Given the description of an element on the screen output the (x, y) to click on. 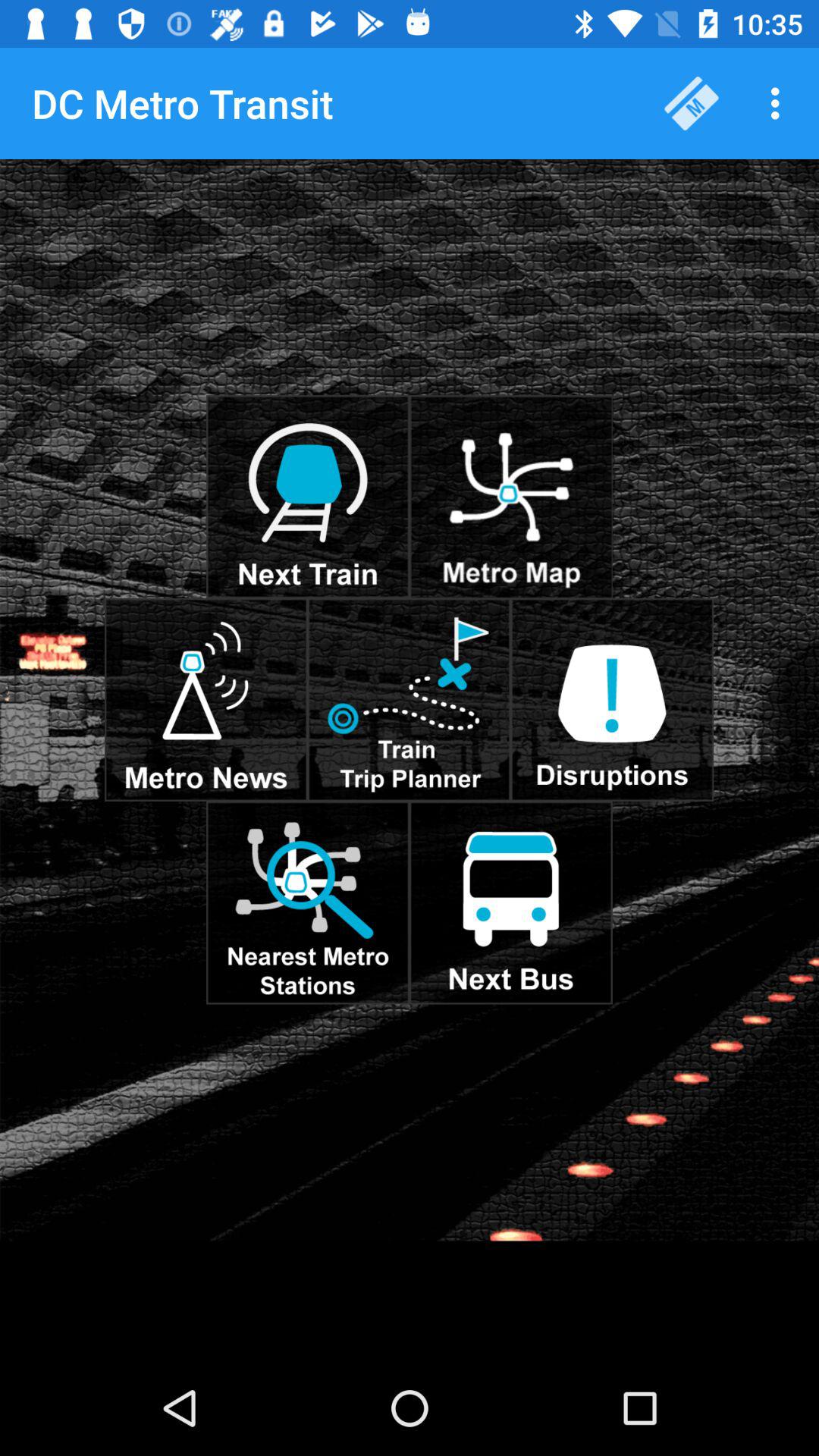
nearest metro stations (307, 902)
